Given the description of an element on the screen output the (x, y) to click on. 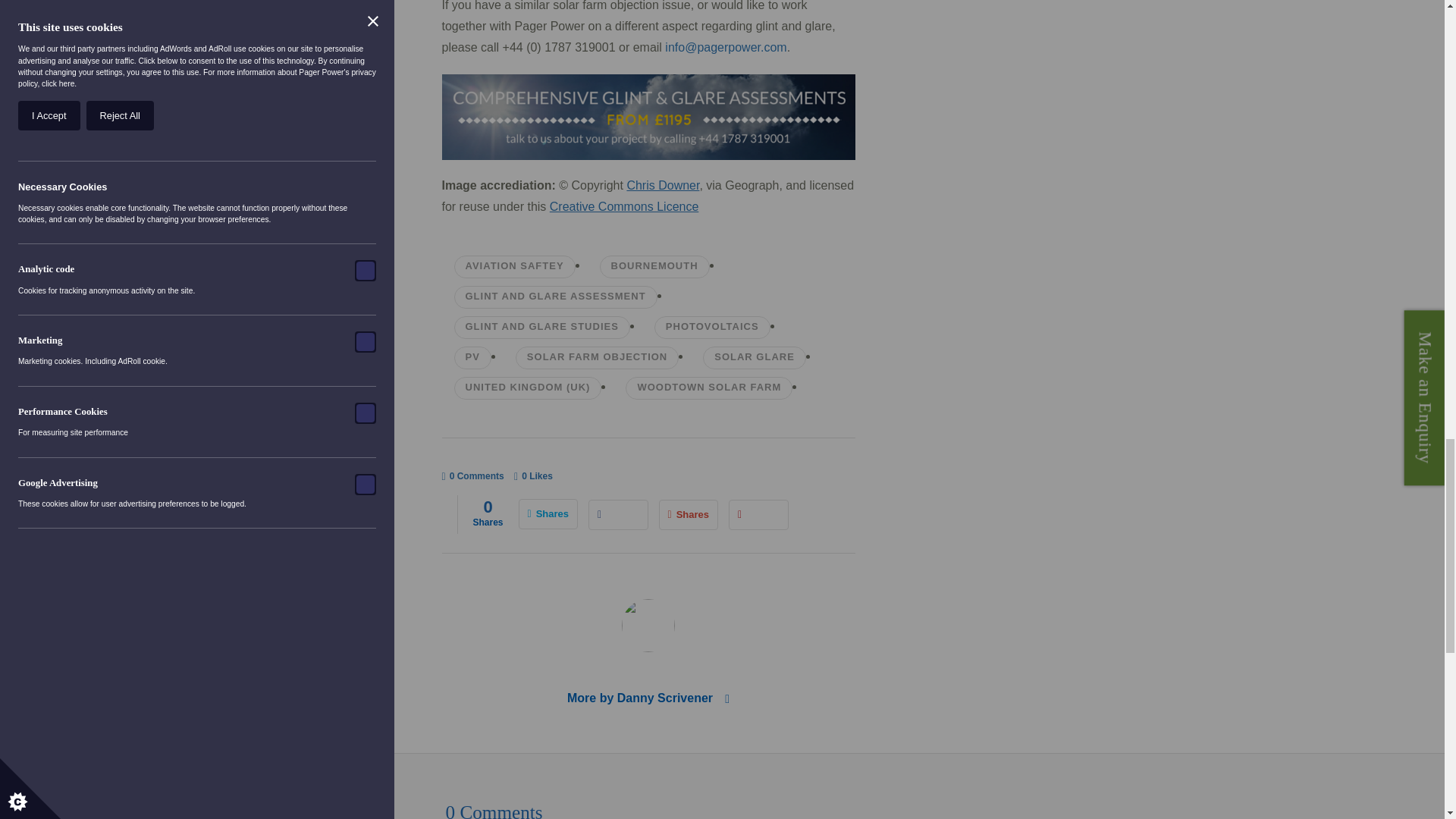
Click to email Pager Power (725, 47)
Chris Downer on Geograph (662, 185)
0 Comments (472, 476)
